Given the description of an element on the screen output the (x, y) to click on. 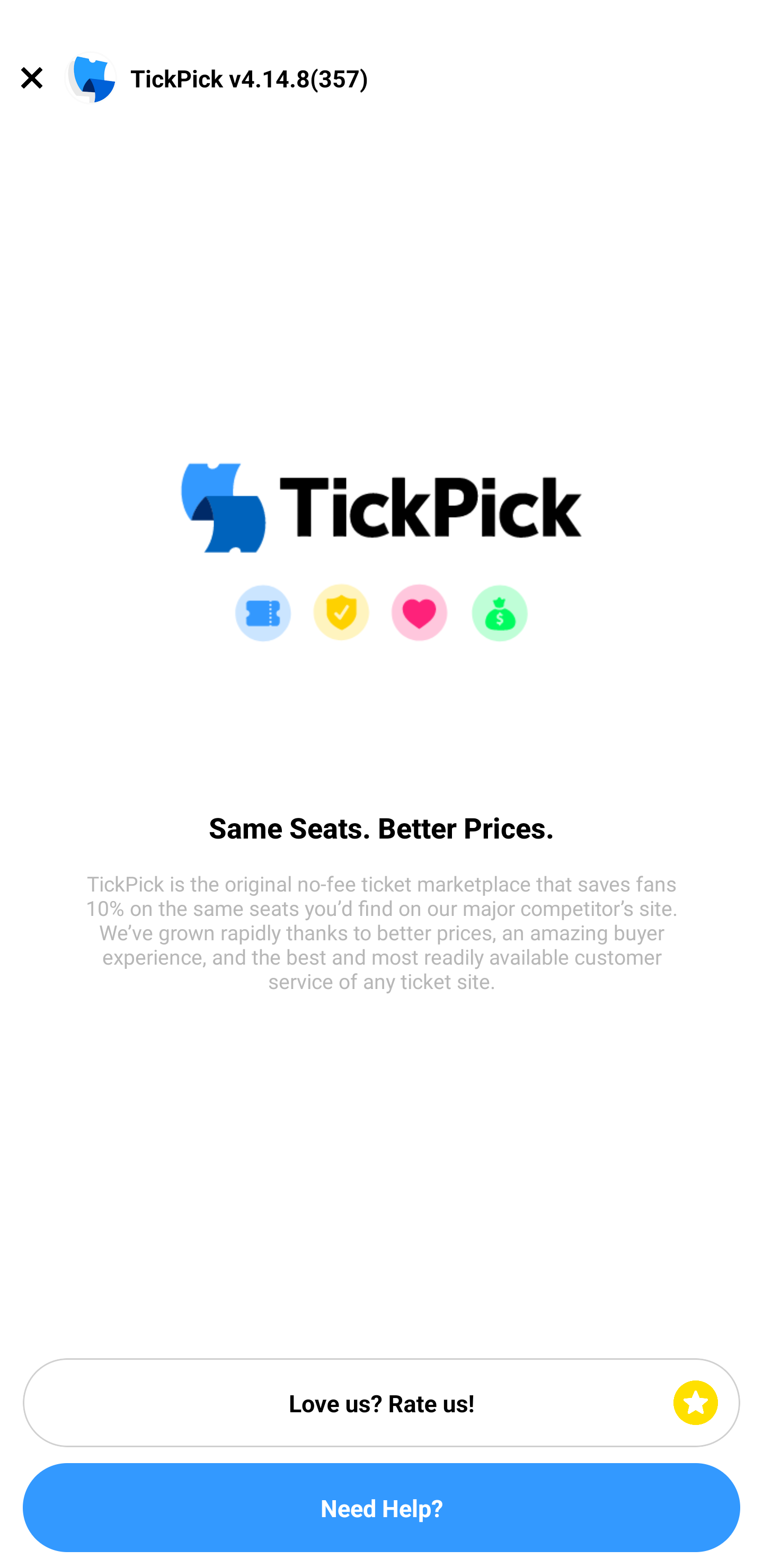
Love us? Rate us! (381, 1402)
Need Help? (381, 1507)
